Given the description of an element on the screen output the (x, y) to click on. 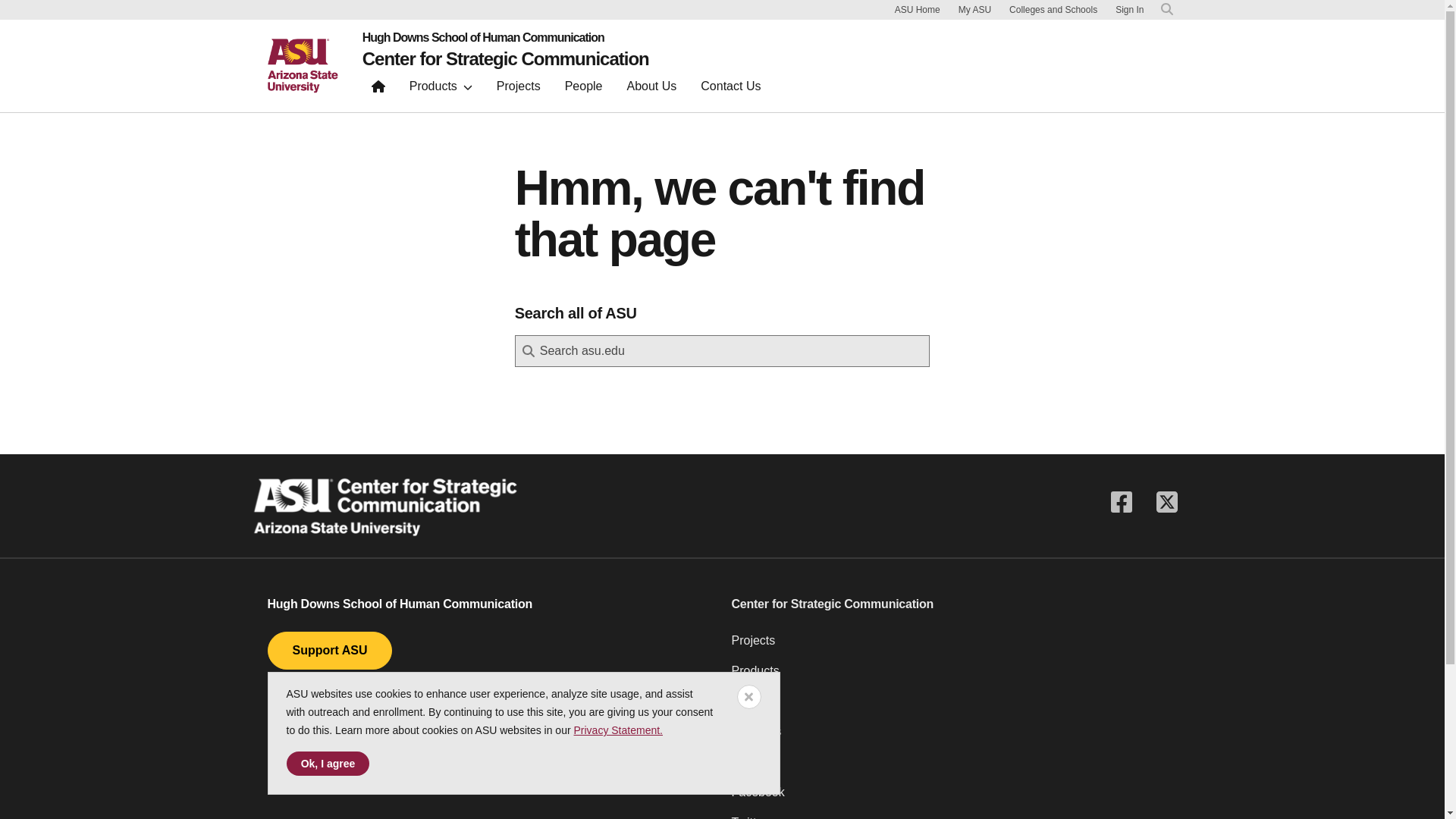
Center for Strategic Communication (505, 58)
Hugh Downs School of Human Communication (505, 37)
Privacy Statement. (617, 729)
My ASU (974, 9)
About Us (651, 89)
Projects (518, 89)
Projects (953, 646)
Products (440, 89)
Support ASU (328, 650)
People (953, 707)
About Us (651, 89)
Contact Us (730, 89)
Projects (518, 89)
